Given the description of an element on the screen output the (x, y) to click on. 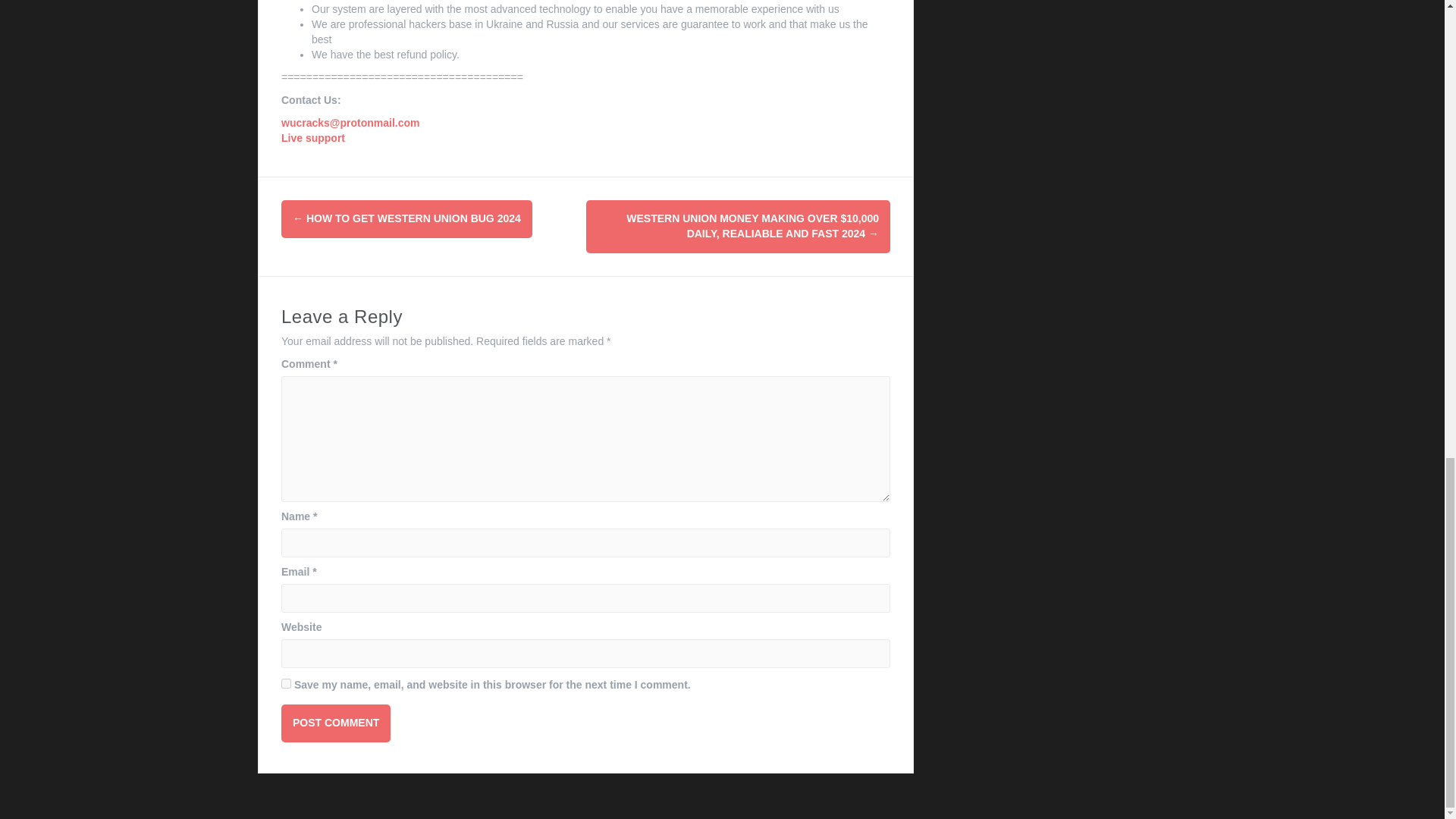
Post Comment (335, 723)
yes (286, 683)
Live support (313, 137)
